Given the description of an element on the screen output the (x, y) to click on. 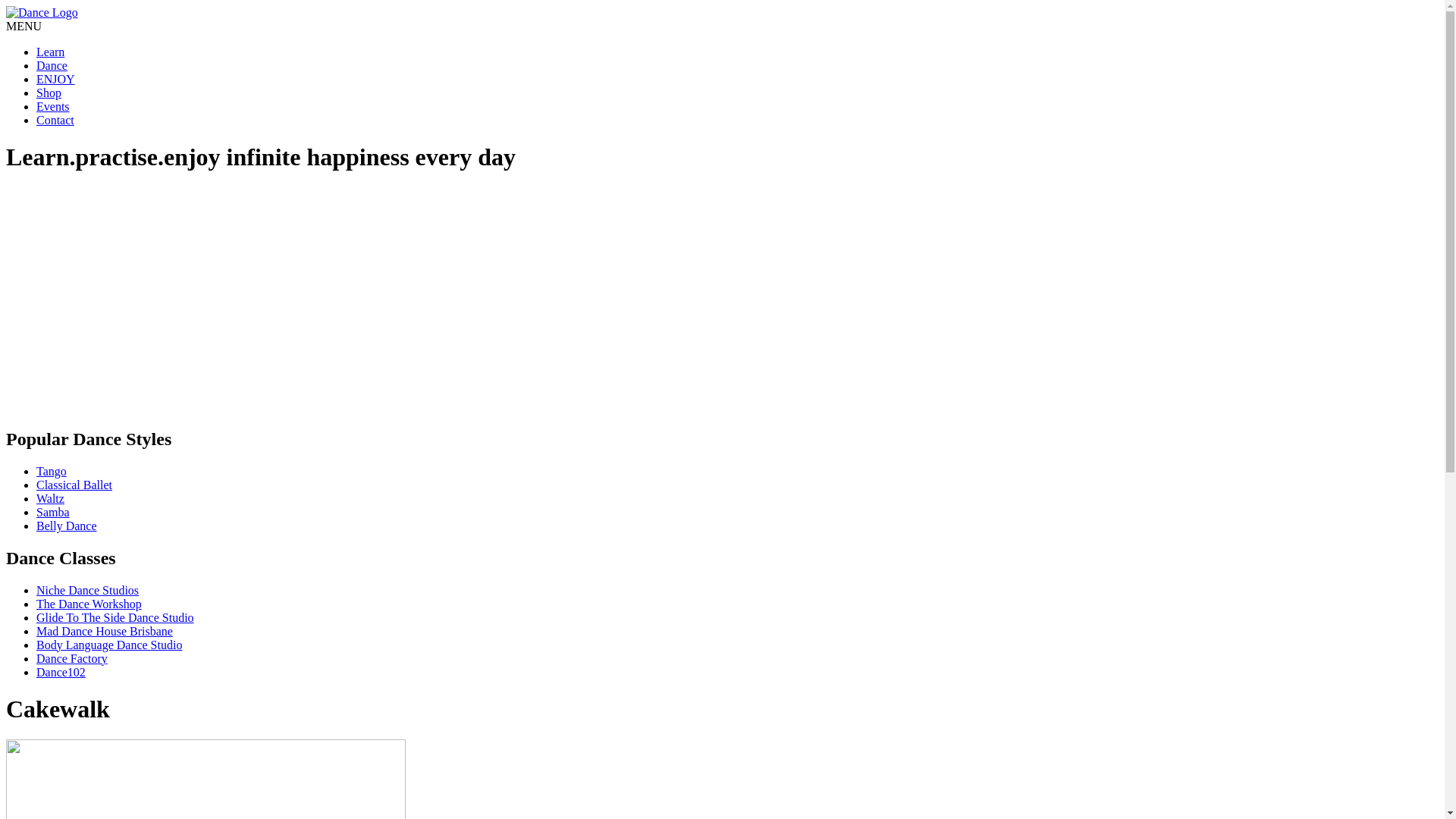
Contact Element type: text (55, 119)
Belly Dance Element type: text (66, 525)
Body Language Dance Studio Element type: text (109, 644)
Mad Dance House Brisbane Element type: text (104, 630)
Tango Element type: text (51, 470)
Dance Element type: text (51, 65)
Learn Element type: text (50, 51)
Niche Dance Studios Element type: text (87, 589)
Waltz Element type: text (50, 498)
Classical Ballet Element type: text (74, 484)
Dance102 Element type: text (60, 671)
Events Element type: text (52, 106)
Glide To The Side Dance Studio Element type: text (115, 617)
Advertisement Element type: hover (461, 294)
The Dance Workshop Element type: text (88, 603)
Dance Factory Element type: text (71, 658)
Samba Element type: text (52, 511)
Shop Element type: text (48, 92)
ENJOY Element type: text (55, 78)
